Given the description of an element on the screen output the (x, y) to click on. 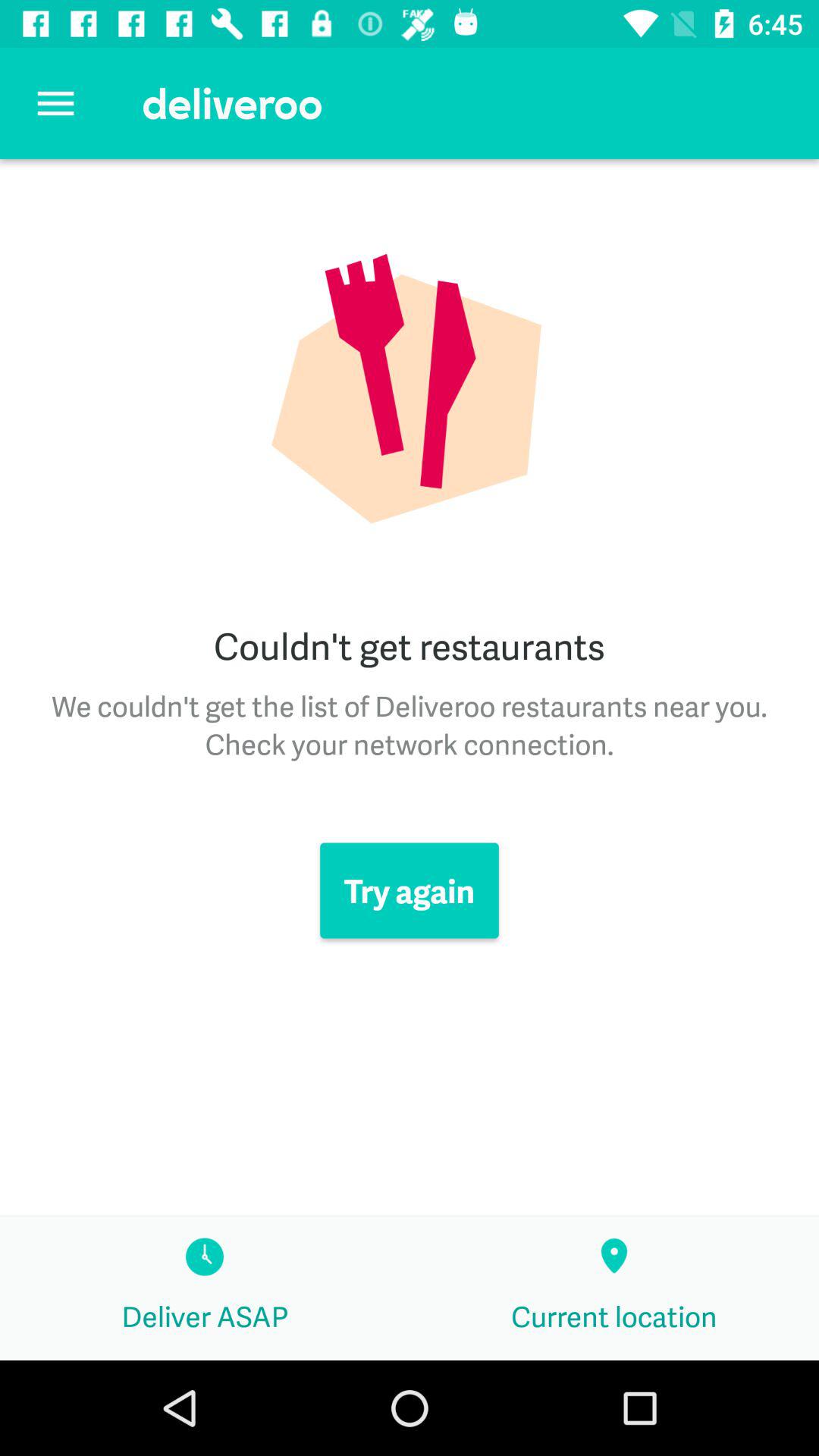
jump to the deliver asap (204, 1288)
